Given the description of an element on the screen output the (x, y) to click on. 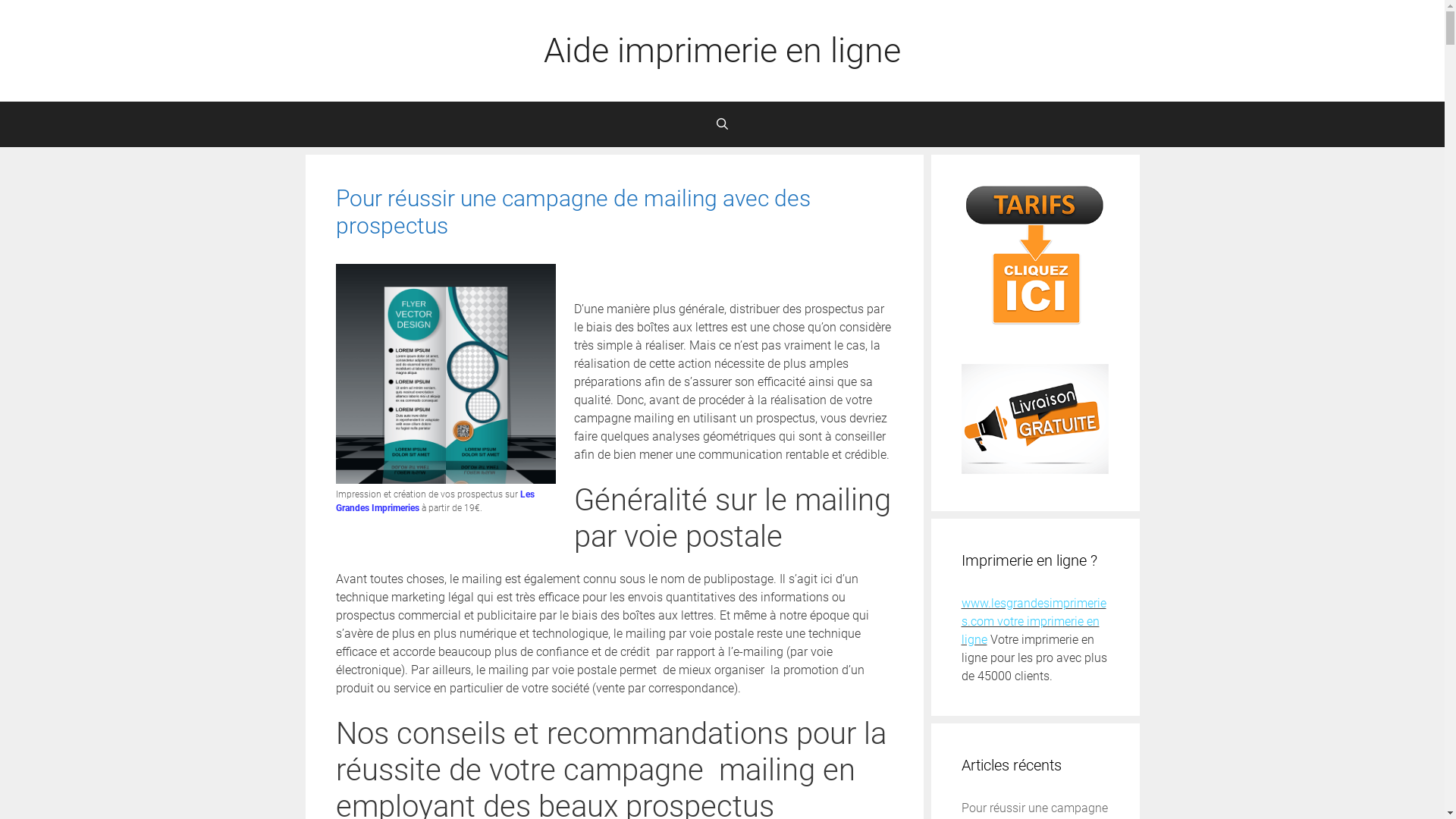
www.lesgrandesimprimeries.com votre imprimerie en ligne Element type: text (1033, 621)
Aide imprimerie en ligne Element type: text (721, 50)
Les Grandes Imprimeries Element type: text (434, 501)
